Given the description of an element on the screen output the (x, y) to click on. 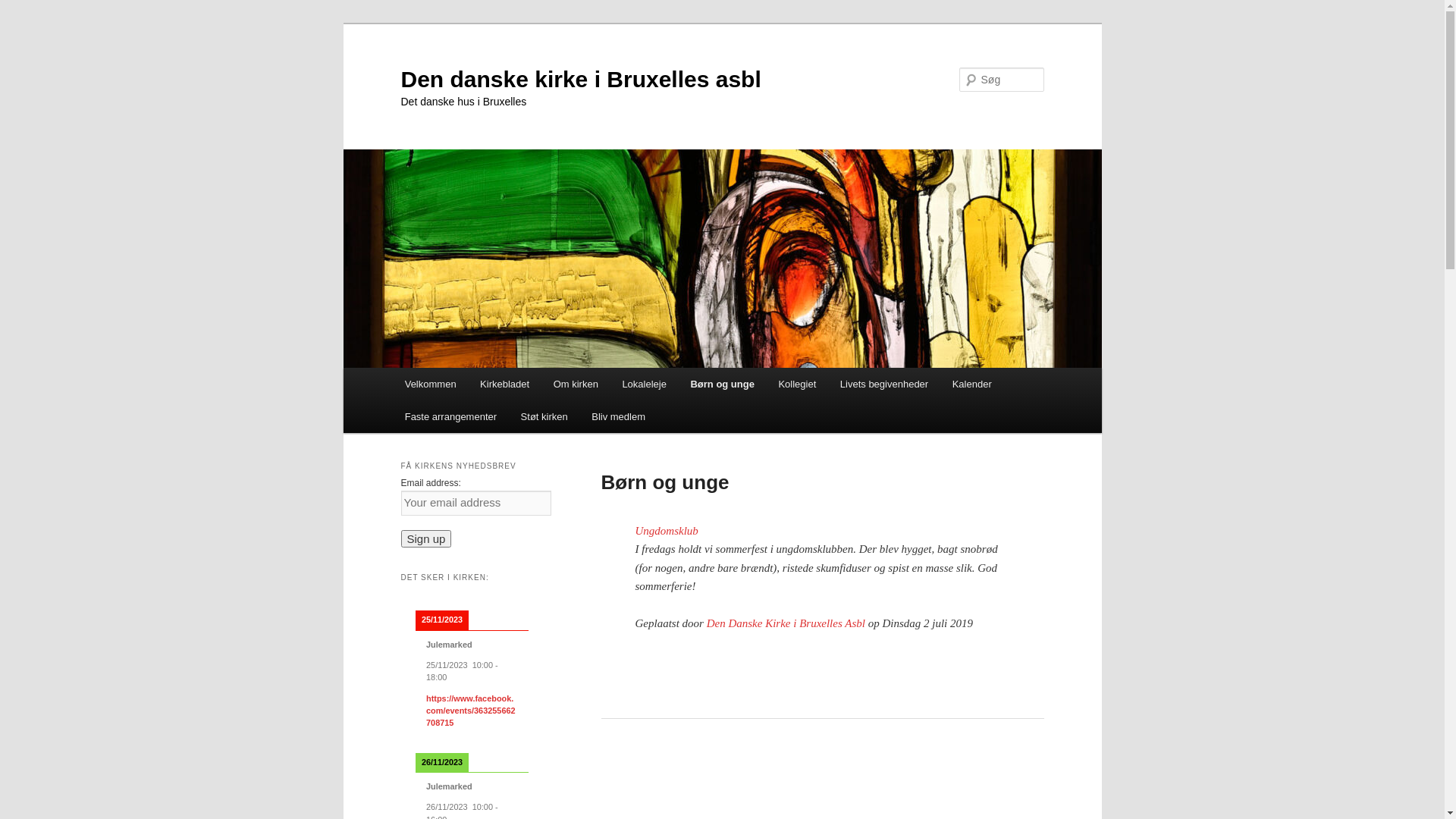
Kollegiet Element type: text (797, 383)
Bliv medlem Element type: text (617, 416)
Om kirken Element type: text (575, 383)
Livets begivenheder Element type: text (884, 383)
Kirkebladet Element type: text (504, 383)
Lokaleleje Element type: text (644, 383)
Velkommen Element type: text (429, 383)
Sign up Element type: text (425, 538)
Den Danske Kirke i Bruxelles Asbl Element type: text (785, 623)
https://www.facebook.com/events/363255662708715 Element type: text (470, 710)
Faste arrangementer Element type: text (450, 416)
Ungdomsklub Element type: text (666, 530)
Kalender Element type: text (972, 383)
Den danske kirke i Bruxelles asbl Element type: text (580, 78)
